Given the description of an element on the screen output the (x, y) to click on. 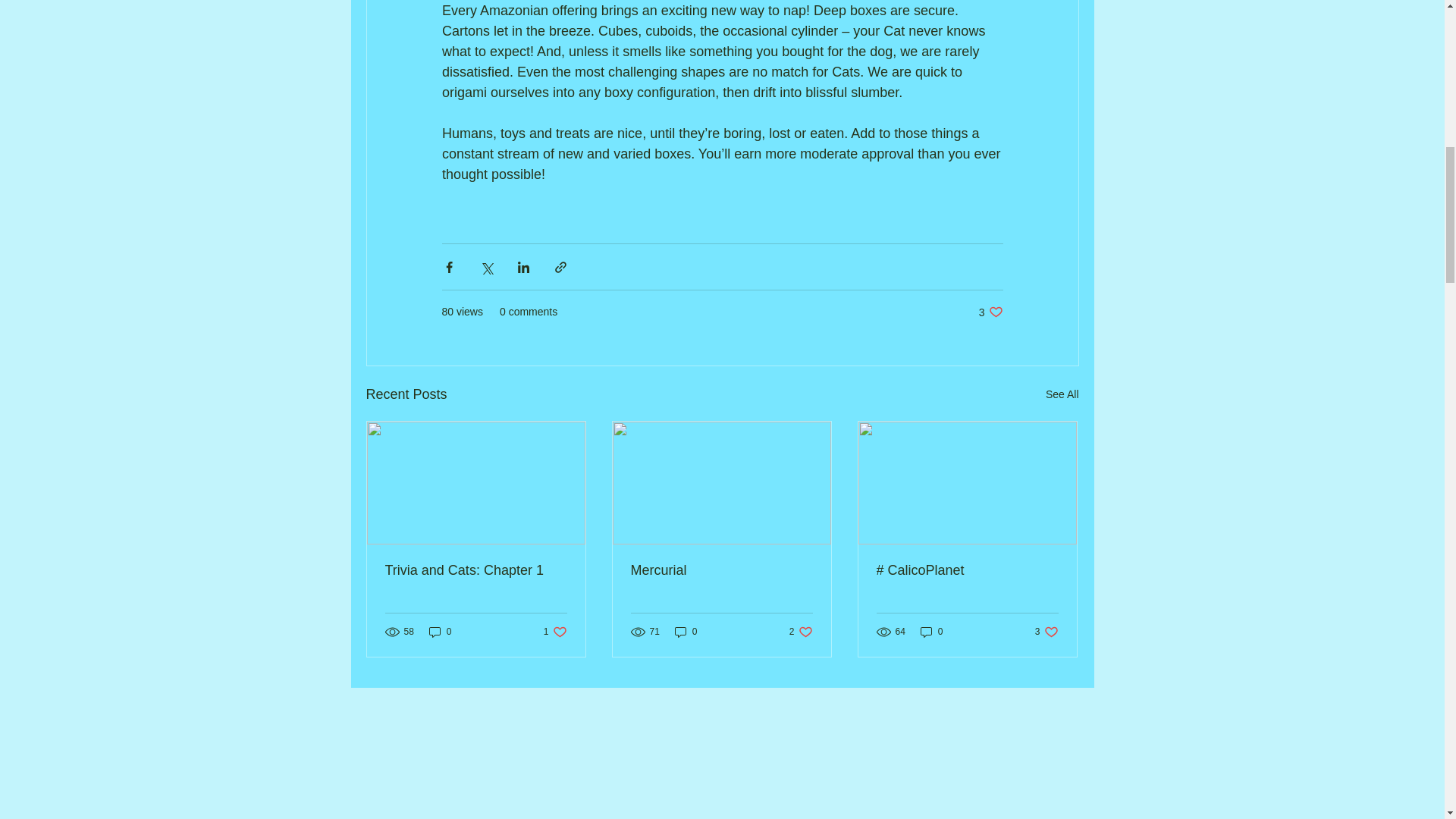
Mercurial (721, 570)
See All (990, 311)
0 (555, 631)
Trivia and Cats: Chapter 1 (800, 631)
0 (1061, 394)
